Given the description of an element on the screen output the (x, y) to click on. 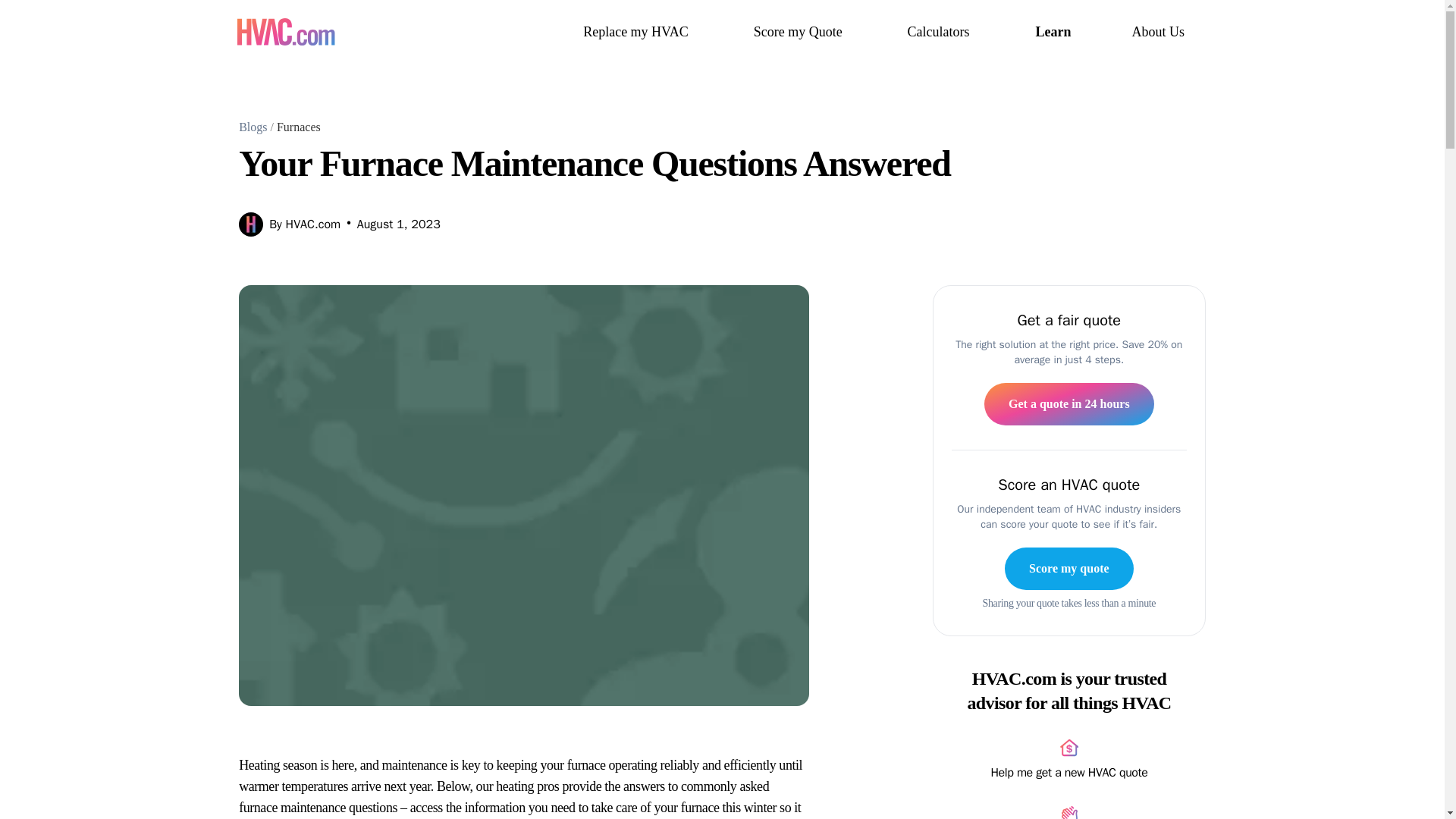
Replace my HVAC (638, 31)
Help me get a new HVAC quote (1069, 760)
Get a quote in 24 hours (1069, 404)
Learn (1052, 31)
Connect me with a local contractor (1069, 812)
Score my Quote (799, 31)
Blogs (252, 126)
Score my quote (1068, 568)
About Us (1158, 31)
Calculators (940, 31)
